Given the description of an element on the screen output the (x, y) to click on. 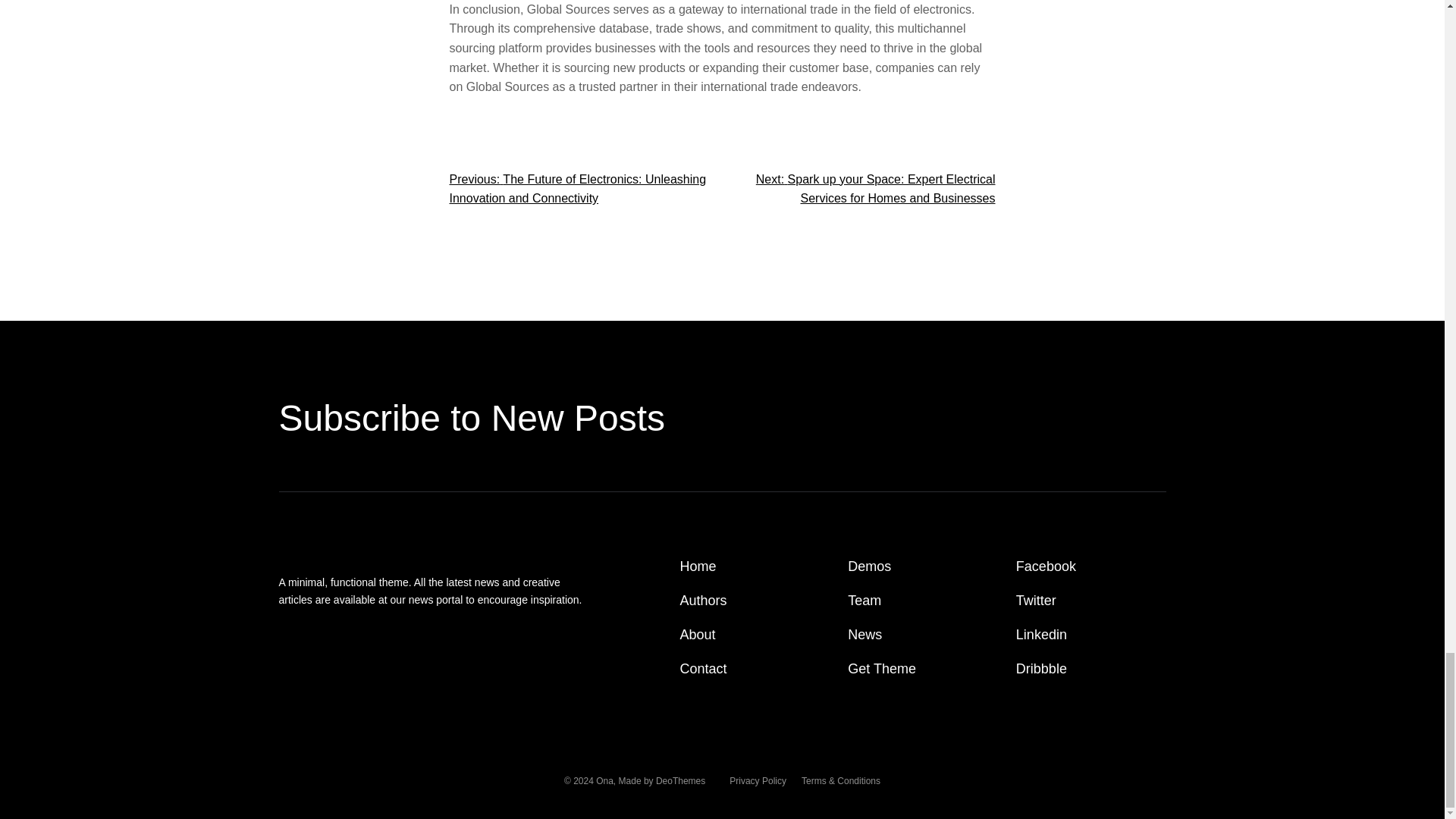
Home (697, 567)
Team (863, 600)
Get Theme (881, 669)
Privacy Policy (757, 780)
Twitter (1036, 600)
Dribbble (1041, 669)
Contact (702, 669)
Authors (702, 600)
Facebook (1045, 567)
Demos (869, 567)
Linkedin (1041, 635)
About (697, 635)
News (864, 635)
